Given the description of an element on the screen output the (x, y) to click on. 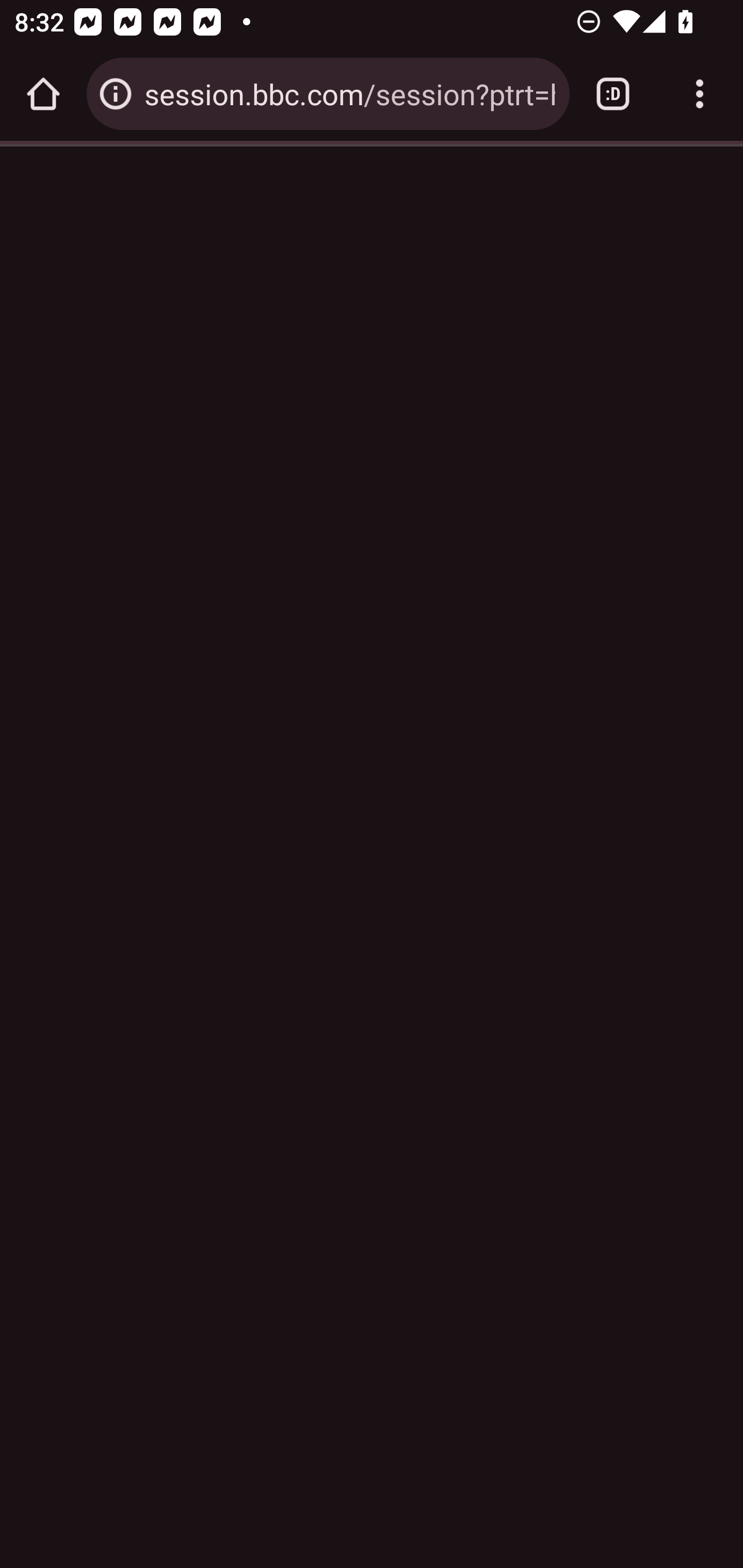
Open the home page (43, 93)
Your connection to this site is not secure (115, 93)
Switch or close tabs (612, 93)
Customize and control Google Chrome (699, 93)
